Given the description of an element on the screen output the (x, y) to click on. 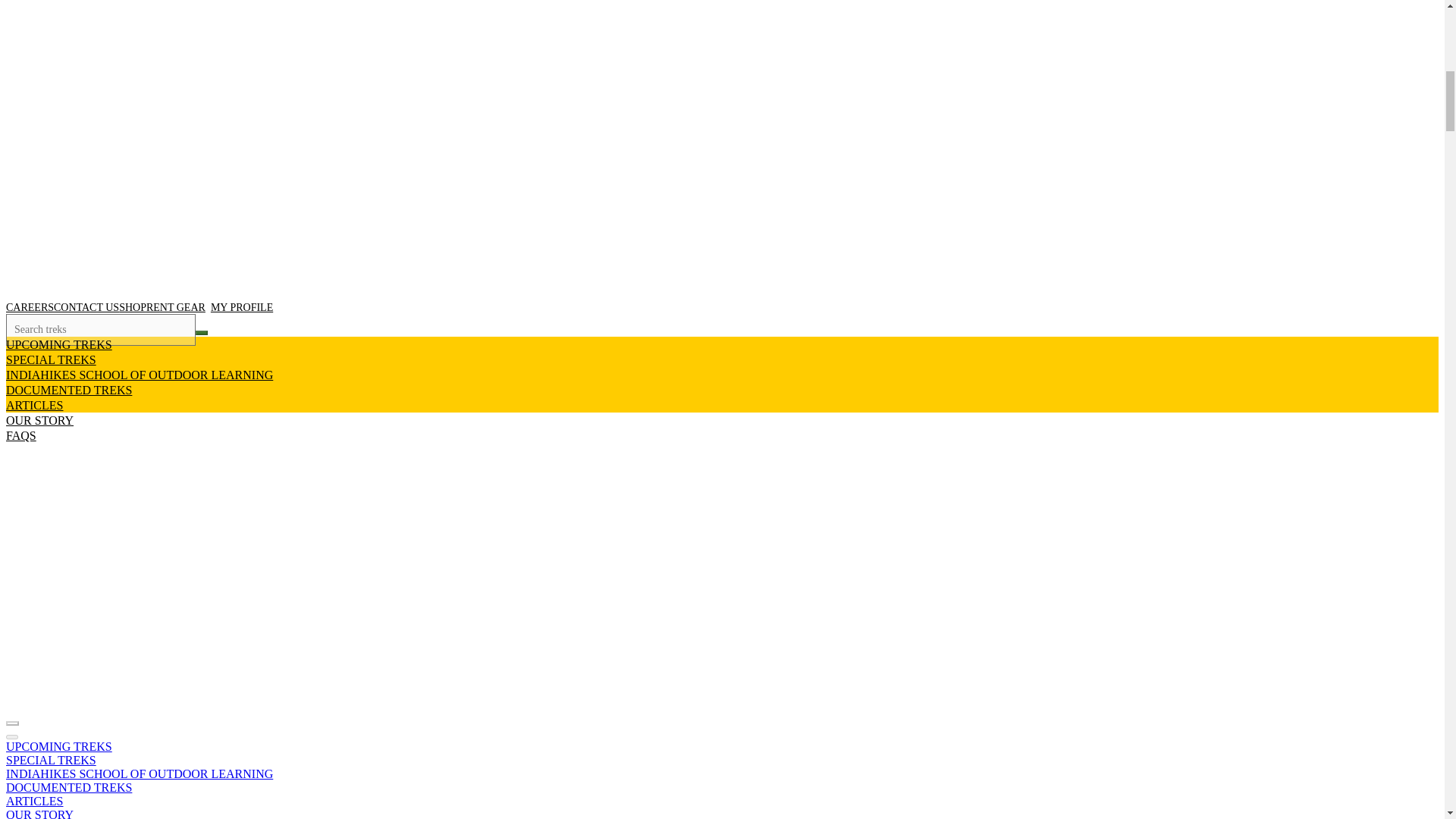
Transformation (71, 532)
RENT GEAR (229, 15)
CONTACT US (127, 15)
MY PROFILE (301, 15)
SHOP (180, 15)
FAQS (20, 15)
CAREERS (63, 15)
Stories (112, 532)
